Given the description of an element on the screen output the (x, y) to click on. 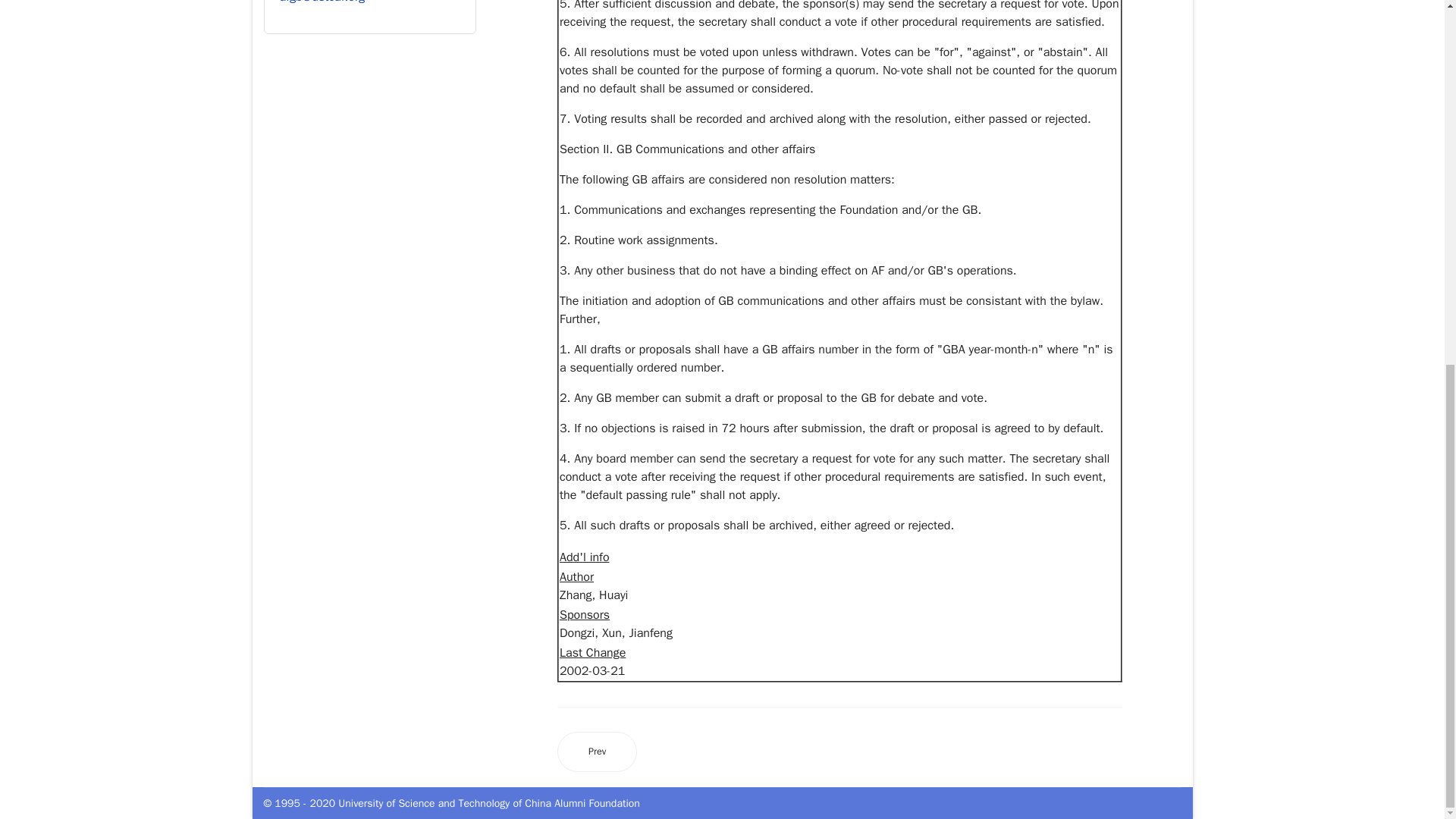
RESOLUTION: GBR-1999-11-1 USTCAF Fund Investment Guidelines  (597, 752)
